Given the description of an element on the screen output the (x, y) to click on. 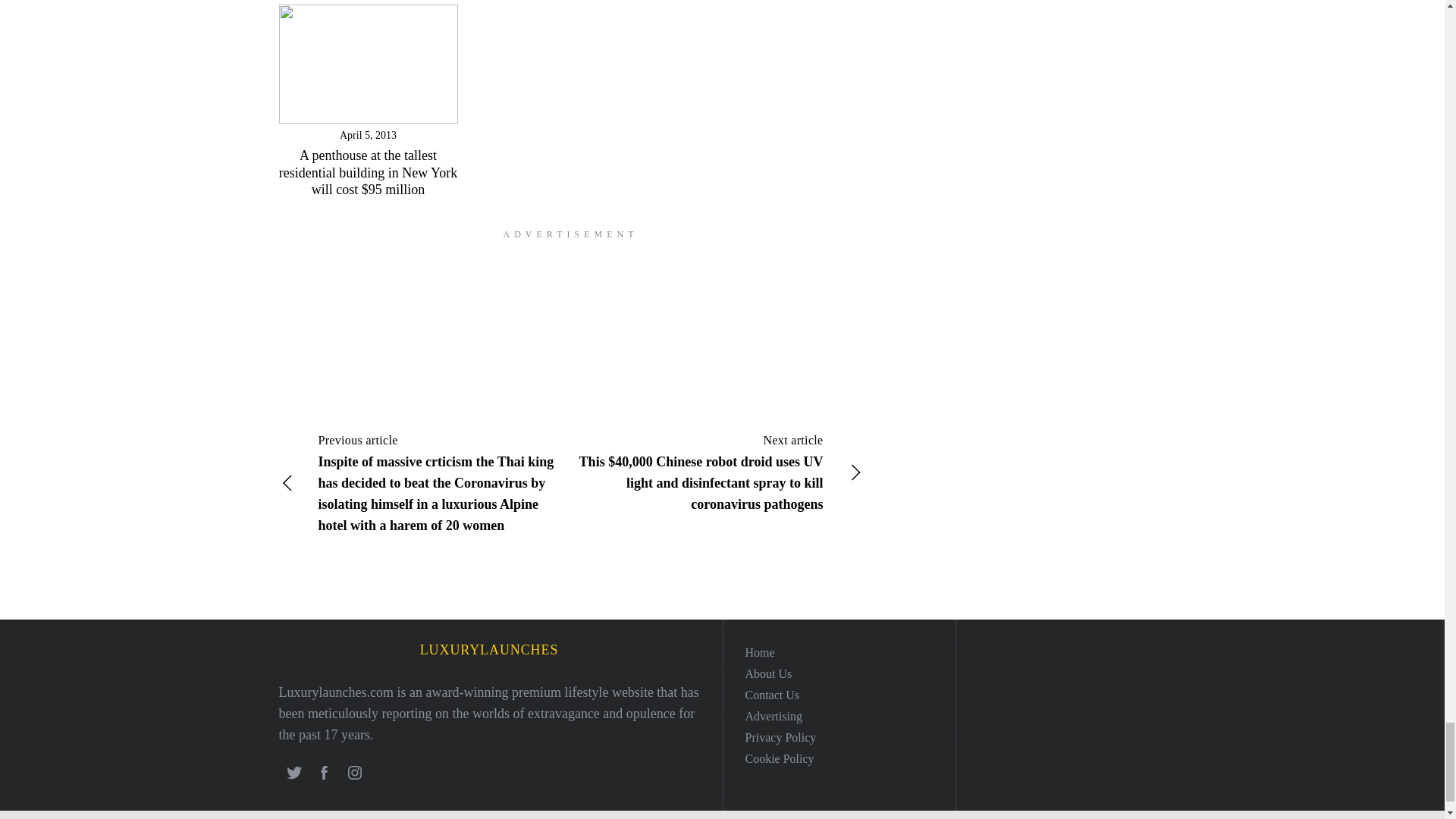
Cookie Policy (778, 758)
About Us (768, 673)
Advertising (773, 716)
Privacy Policy (779, 737)
Contact us (771, 694)
Home (759, 652)
